Given the description of an element on the screen output the (x, y) to click on. 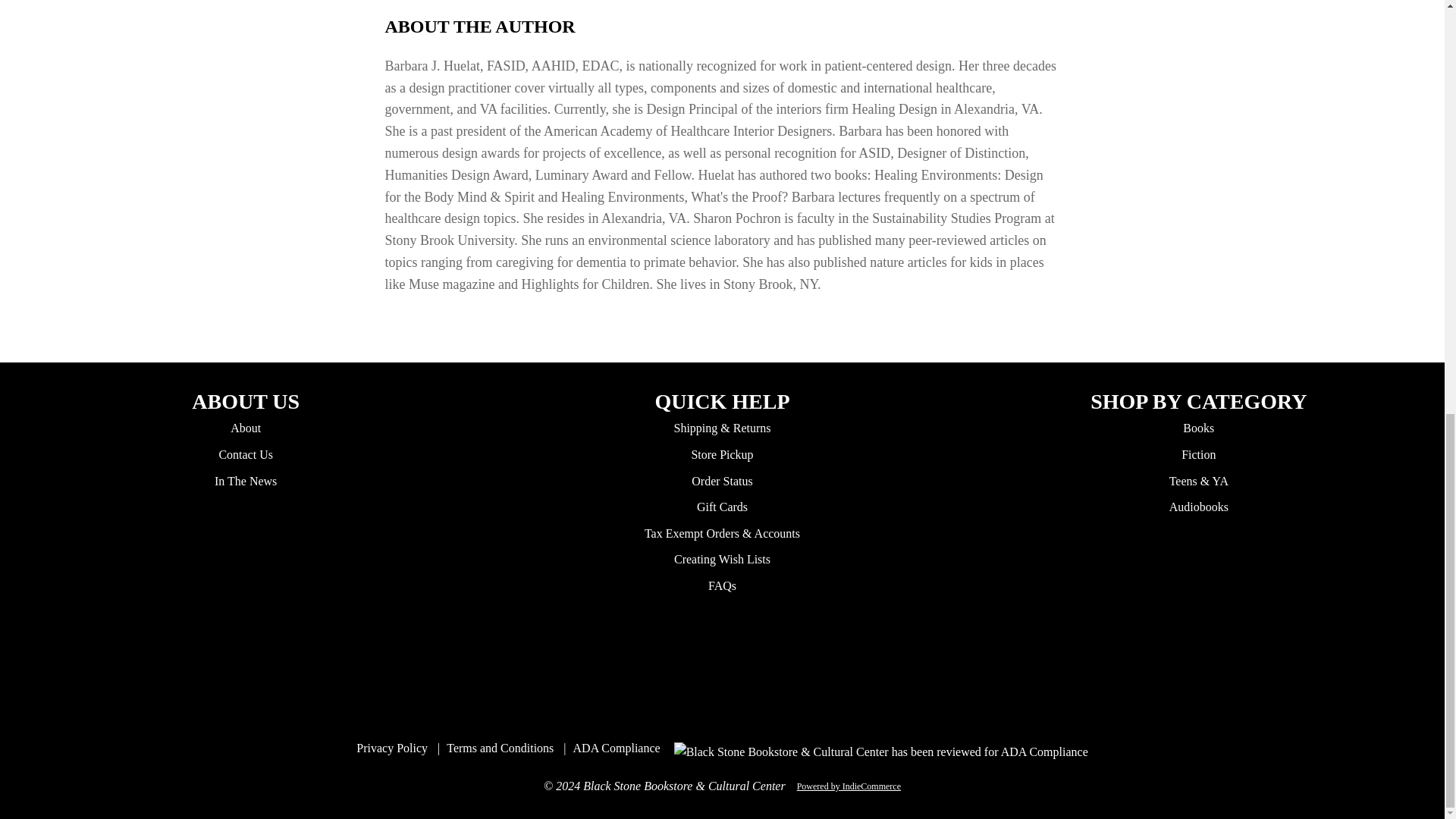
ADA Compliance (617, 748)
Books (1198, 427)
Connect with Instagram (705, 662)
Audiobooks (1198, 506)
Creating Wish Lists (722, 558)
Order Status (721, 481)
In The News (245, 481)
Terms and Conditions (499, 748)
Privacy Policy (392, 748)
Powered by IndieCommerce (848, 786)
